Given the description of an element on the screen output the (x, y) to click on. 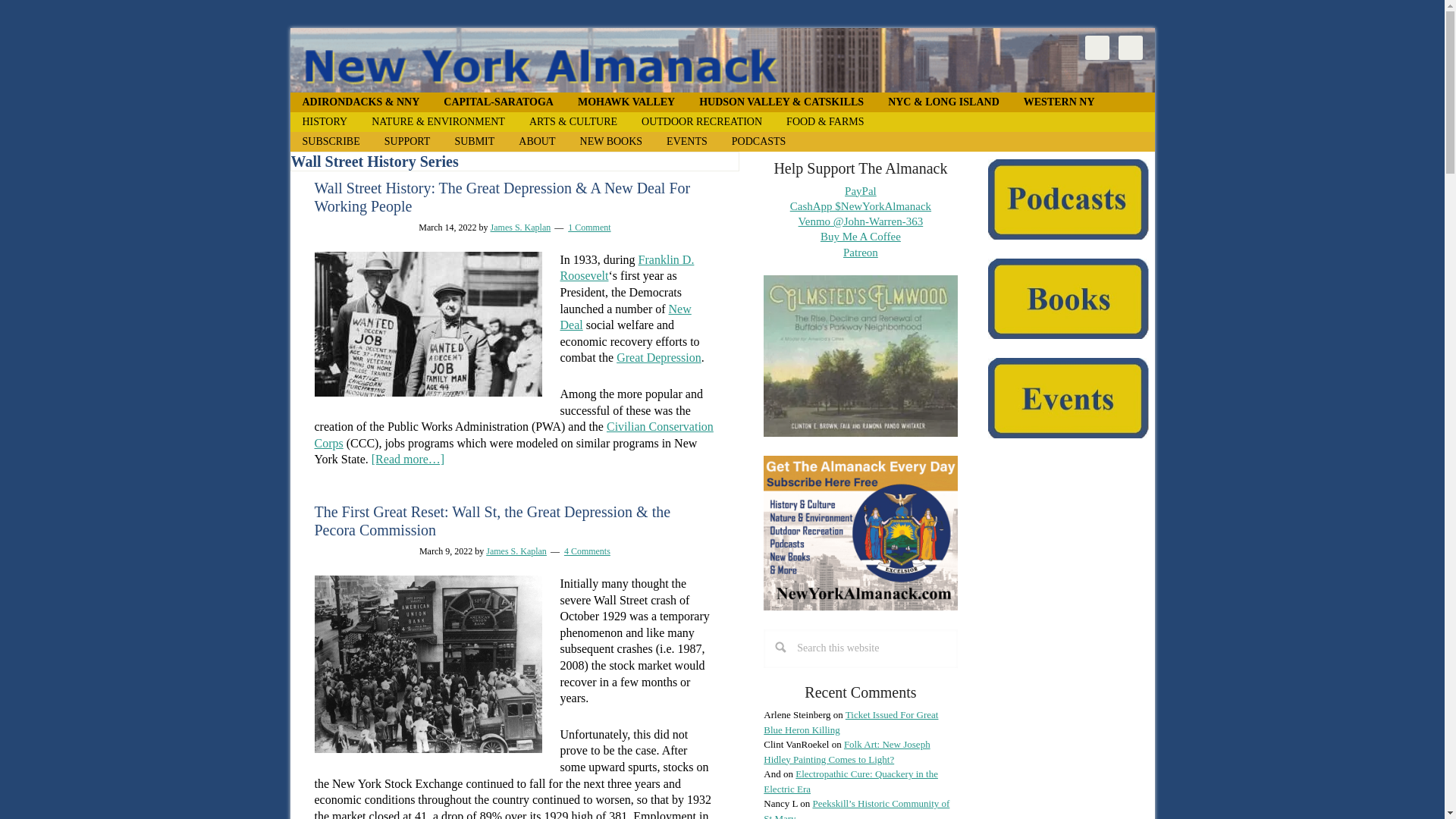
Civilian Conservation Corps (513, 434)
Great Depression (658, 357)
Franklin D. Roosevelt (626, 267)
SUBSCRIBE (330, 141)
EVENTS (686, 141)
1 Comment (588, 226)
New York Almanack (721, 59)
PODCASTS (758, 141)
MOHAWK VALLEY (626, 102)
SUPPORT (407, 141)
ABOUT (536, 141)
CAPITAL-SARATOGA (498, 102)
NEW BOOKS (611, 141)
WESTERN NY (1058, 102)
